Given the description of an element on the screen output the (x, y) to click on. 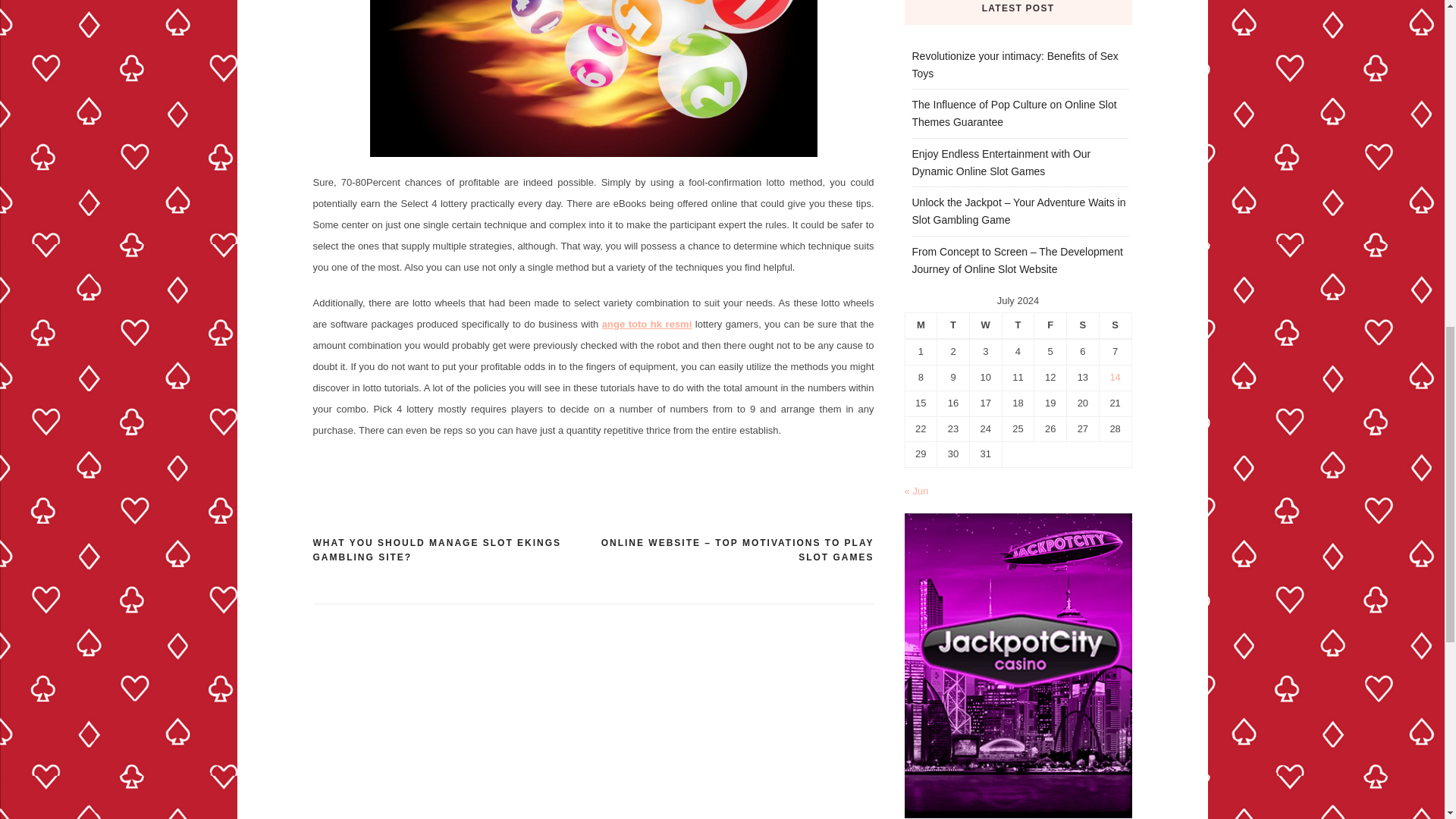
WHAT YOU SHOULD MANAGE SLOT EKINGS GAMBLING SITE? (452, 550)
Friday (1050, 325)
Saturday (1083, 325)
Monday (920, 325)
ange toto hk resmi (646, 324)
Revolutionize your intimacy: Benefits of Sex Toys (1014, 64)
Thursday (1017, 325)
Sunday (1115, 325)
Tuesday (953, 325)
14 (1114, 377)
Wednesday (985, 325)
The Influence of Pop Culture on Online Slot Themes Guarantee (1013, 112)
